Given the description of an element on the screen output the (x, y) to click on. 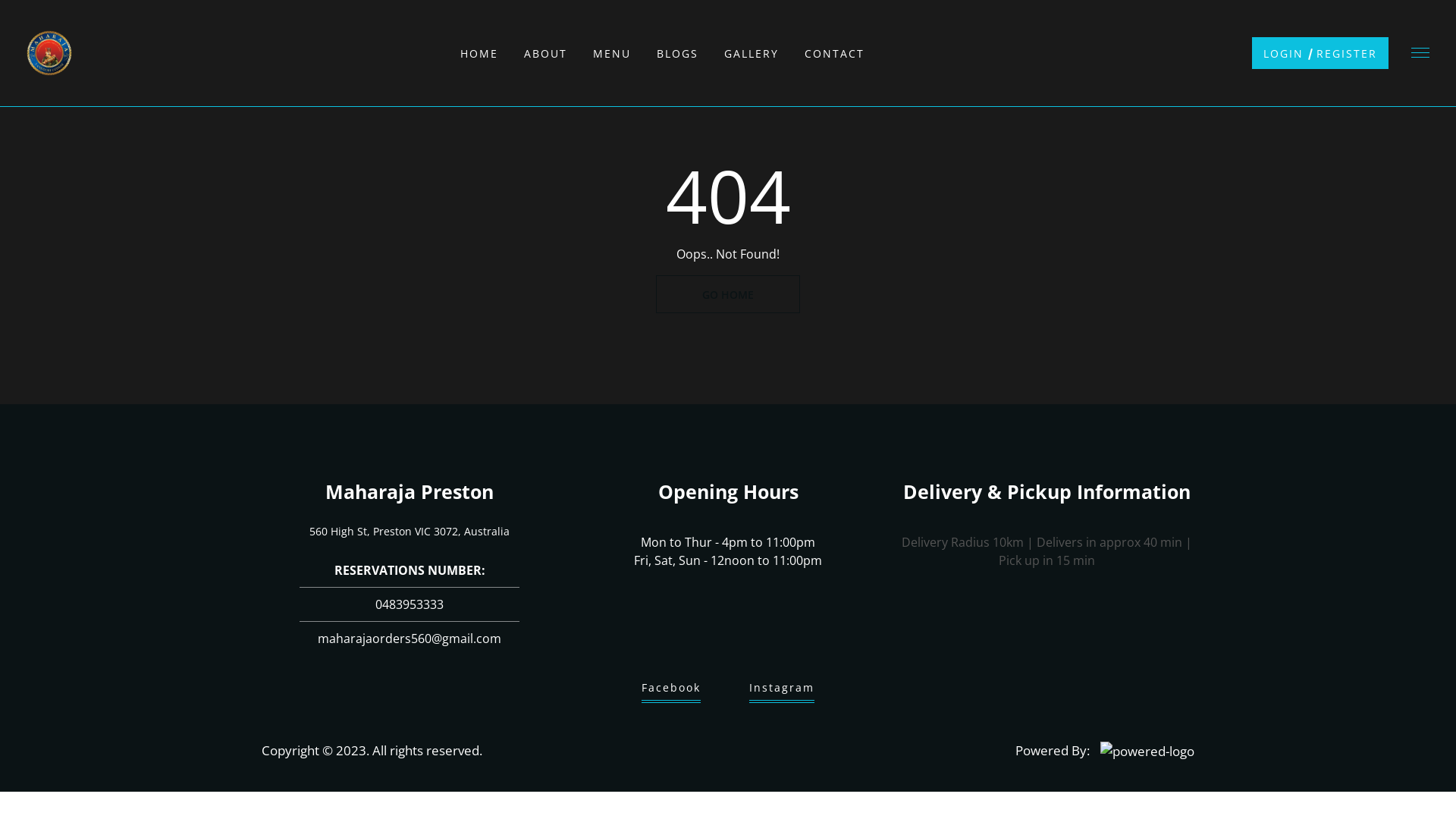
Facebook Element type: text (670, 691)
Instagram Element type: text (781, 691)
CONTACT Element type: text (833, 52)
BLOGS Element type: text (677, 52)
LOGIN Element type: text (1283, 53)
Maharaja Preston Element type: text (409, 491)
HOME Element type: text (478, 52)
ABOUT Element type: text (544, 52)
GO HOME Element type: text (727, 294)
0483953333 Element type: text (409, 599)
GALLERY Element type: text (750, 52)
REGISTER Element type: text (1346, 53)
MENU Element type: text (611, 52)
maharajaorders560@gmail.com Element type: text (409, 638)
